Given the description of an element on the screen output the (x, y) to click on. 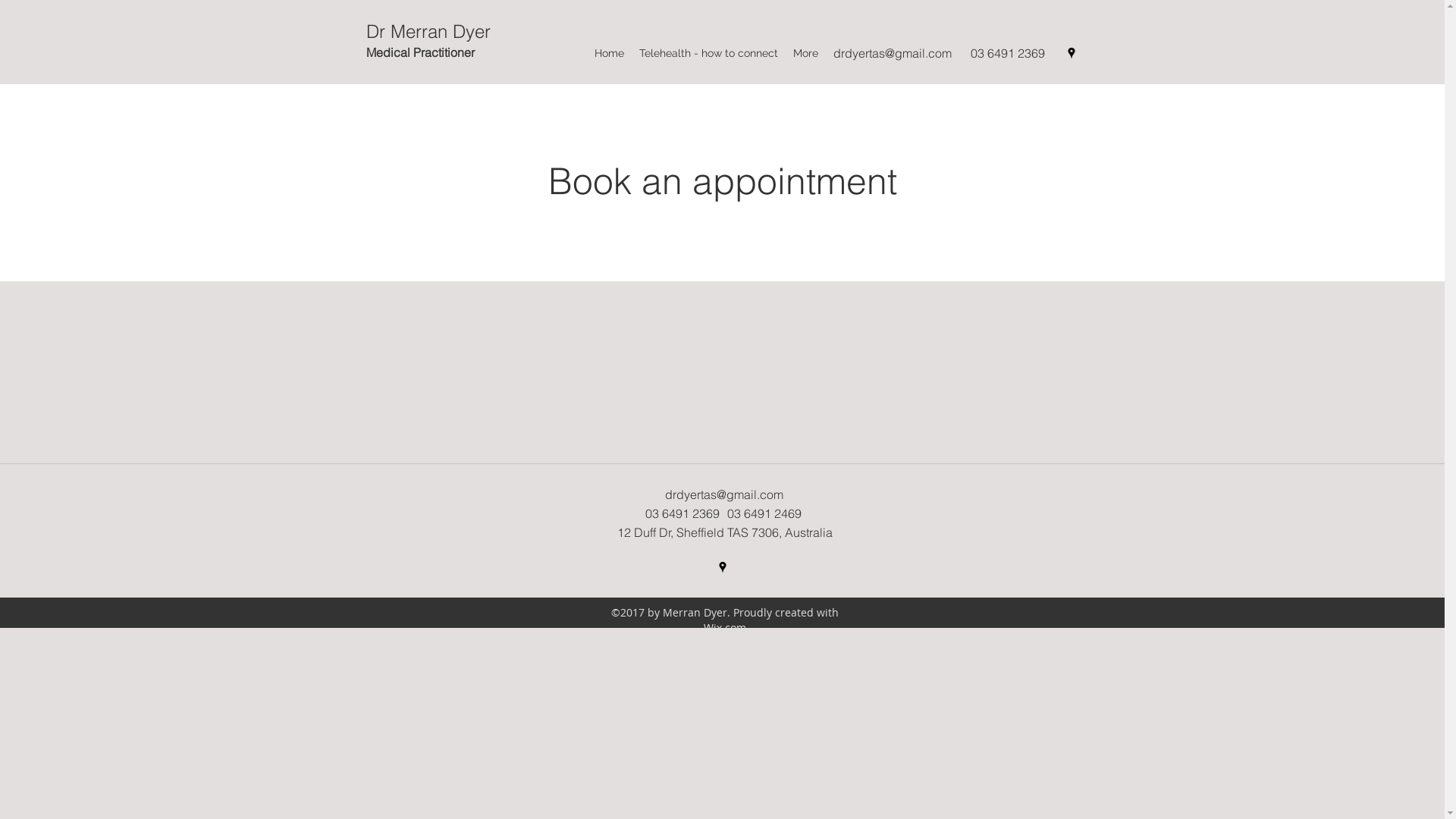
Home Element type: text (608, 52)
drdyertas@gmail.com Element type: text (891, 52)
Telehealth - how to connect Element type: text (707, 52)
drdyertas@gmail.com Element type: text (723, 494)
